Given the description of an element on the screen output the (x, y) to click on. 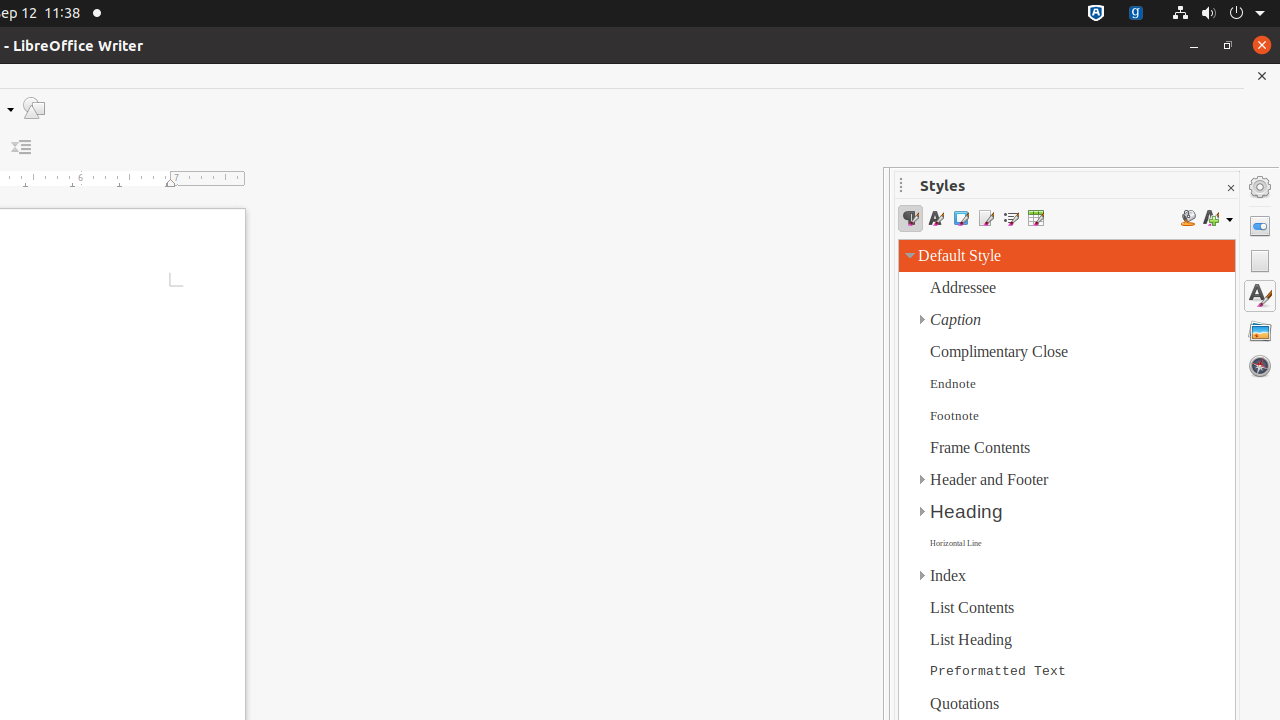
Styles actions Element type: push-button (1218, 218)
Fill Format Mode Element type: push-button (1187, 218)
Navigator Element type: radio-button (1260, 366)
org.kde.StatusNotifierItem-14077-1 Element type: menu (1136, 13)
System Element type: menu (1218, 13)
